Given the description of an element on the screen output the (x, y) to click on. 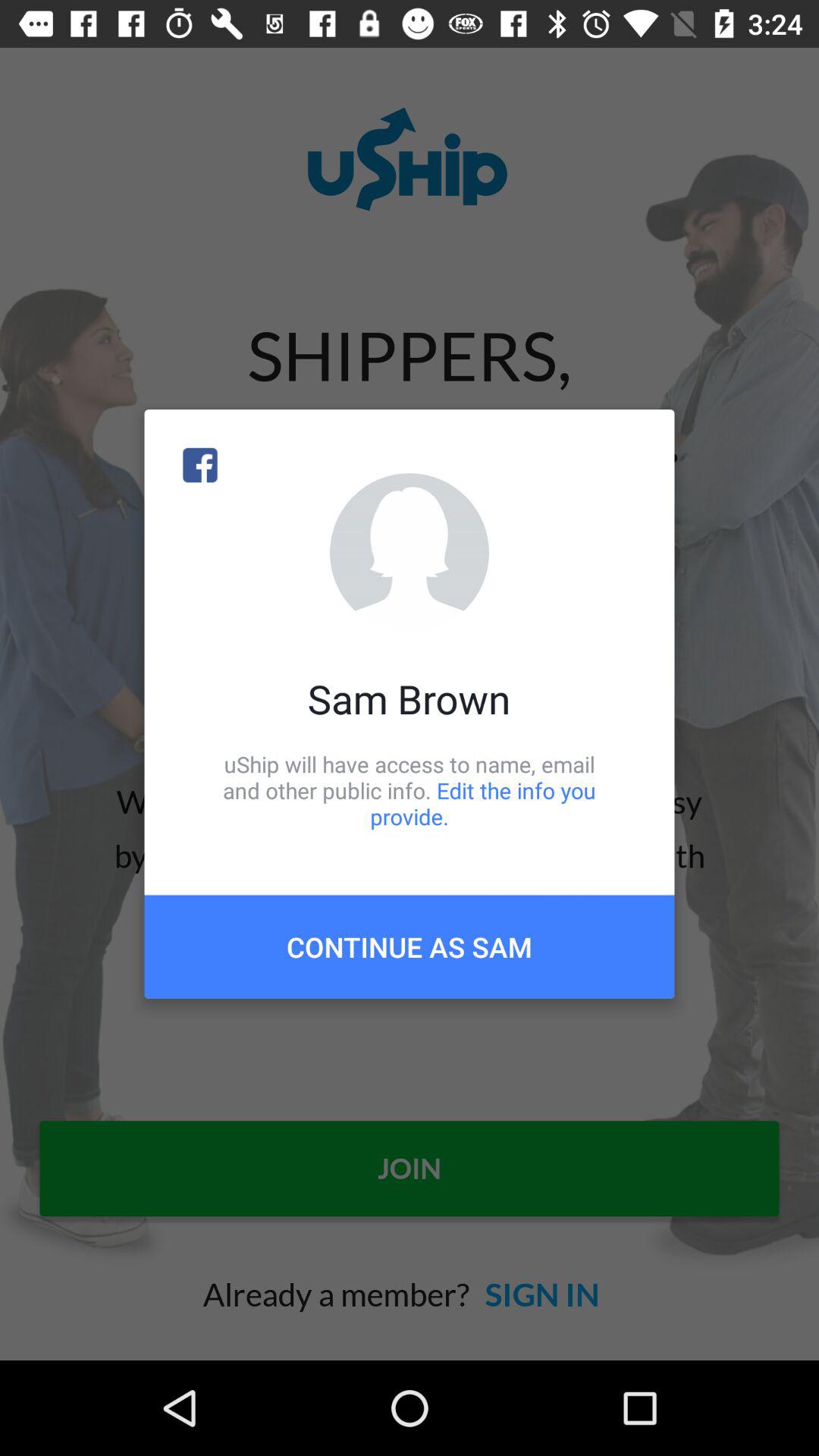
select the item below the uship will have item (409, 946)
